Given the description of an element on the screen output the (x, y) to click on. 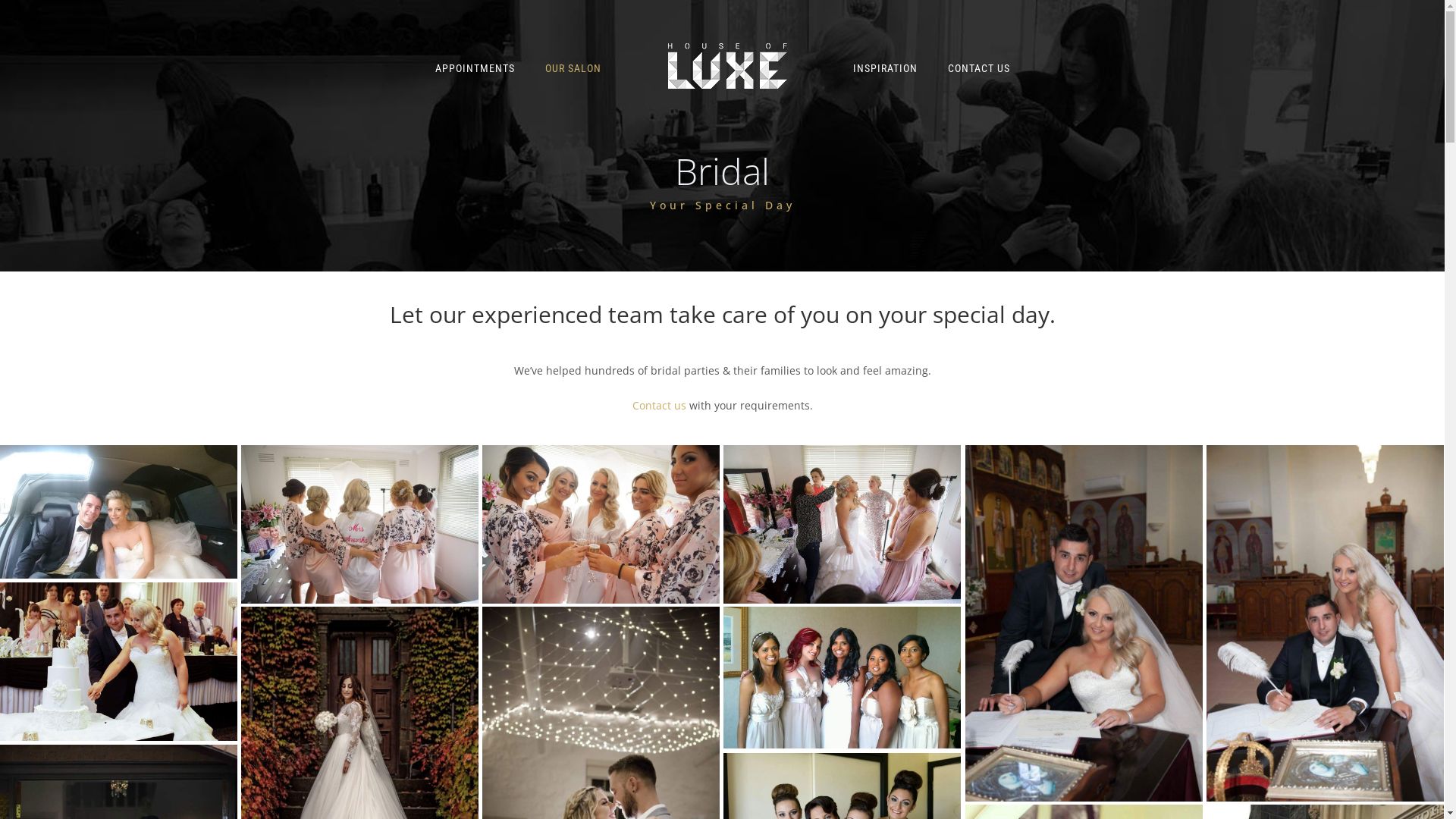
CONTACT US Element type: text (978, 68)
FB_IMG_1434811964703 Element type: hover (118, 511)
FB_IMG_1454996095308 Element type: hover (841, 524)
OUR SALON Element type: text (572, 68)
APPOINTMENTS Element type: text (475, 68)
FB_IMG_1454996126217 Element type: hover (1324, 623)
FB_IMG_1454996118892 Element type: hover (1083, 623)
Contact us Element type: text (659, 405)
FB_IMG_1451728625573 Element type: hover (600, 524)
FB_IMG_1467244868244 Element type: hover (841, 677)
FB_IMG_1451728618719 Element type: hover (359, 524)
FB_IMG_1455099383984 Element type: hover (118, 661)
INSPIRATION Element type: text (884, 68)
